Given the description of an element on the screen output the (x, y) to click on. 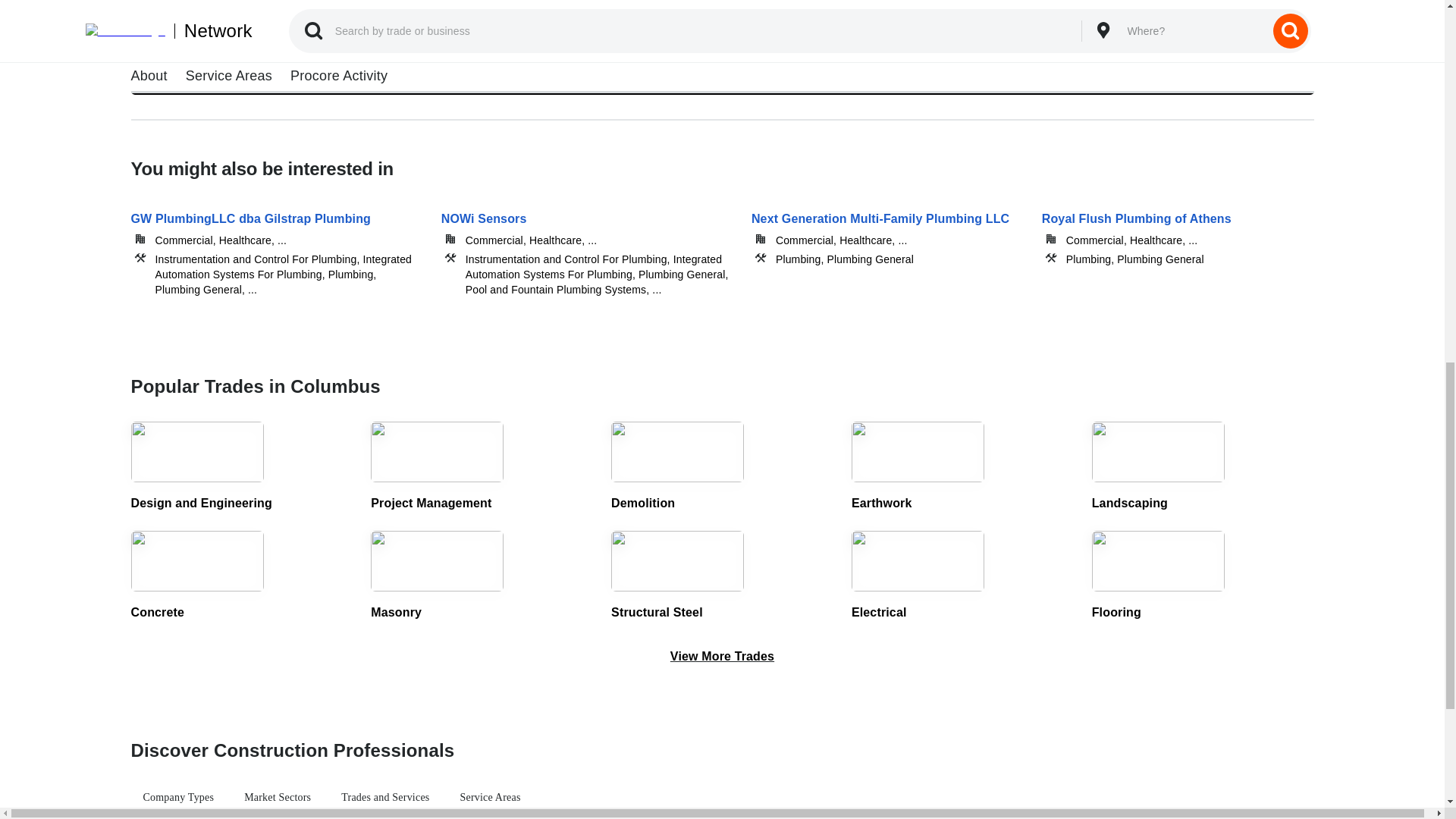
Trades and Services (385, 797)
Design and Engineering (241, 466)
Masonry (481, 575)
View More Trades (722, 656)
NOWi Sensors (587, 242)
Structural Steel (721, 575)
Learn more (212, 54)
Flooring (1203, 575)
Project Management (481, 466)
